Given the description of an element on the screen output the (x, y) to click on. 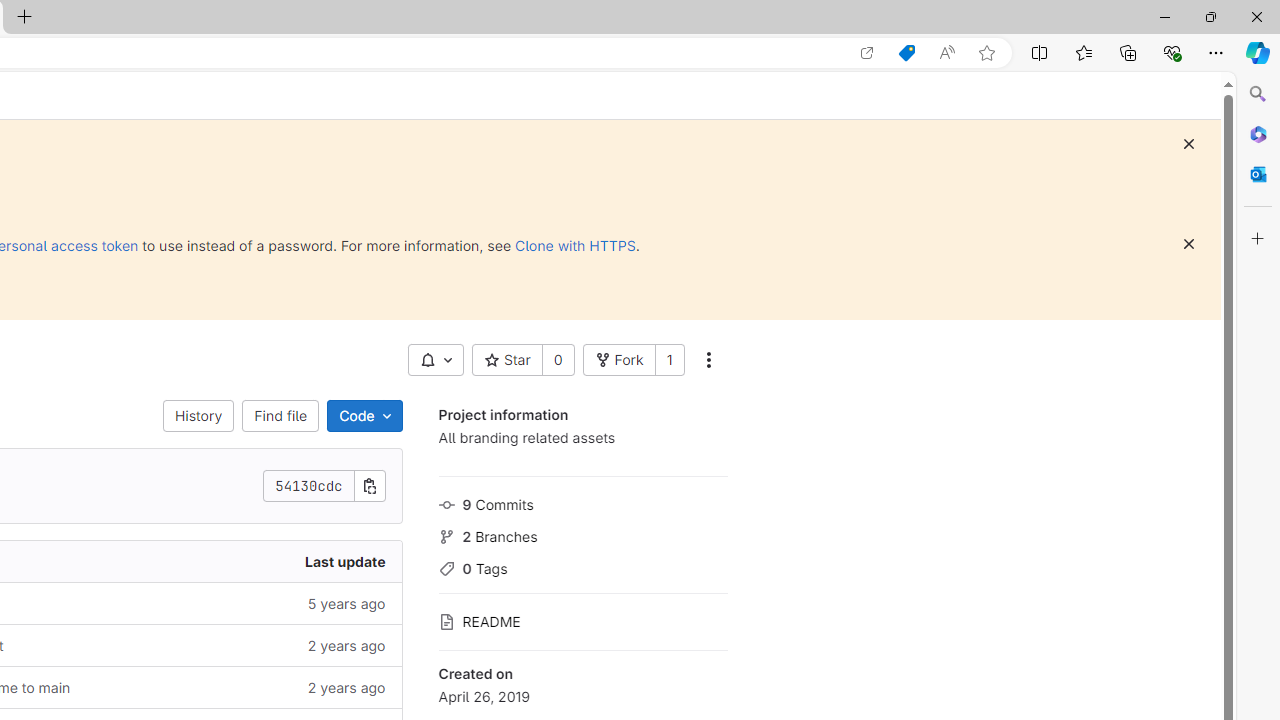
Copy commit SHA (369, 485)
Fork (618, 359)
9 Commits (582, 502)
5 years ago (247, 602)
Open in app (867, 53)
1 (669, 359)
Last update (247, 561)
0 Tags (582, 566)
Find file (280, 416)
